Given the description of an element on the screen output the (x, y) to click on. 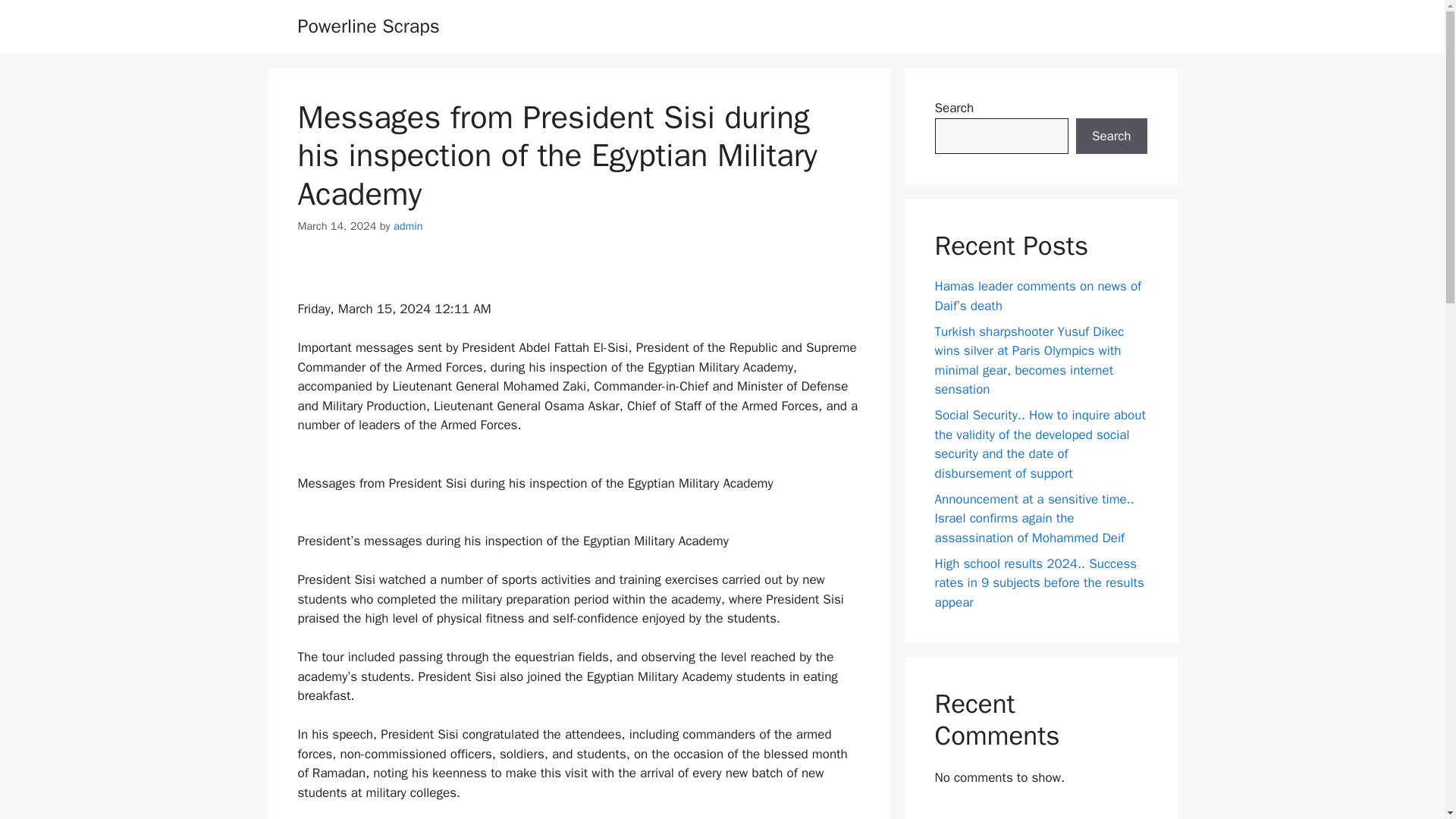
admin (408, 225)
View all posts by admin (408, 225)
Powerline Scraps (368, 25)
Search (1111, 135)
